Given the description of an element on the screen output the (x, y) to click on. 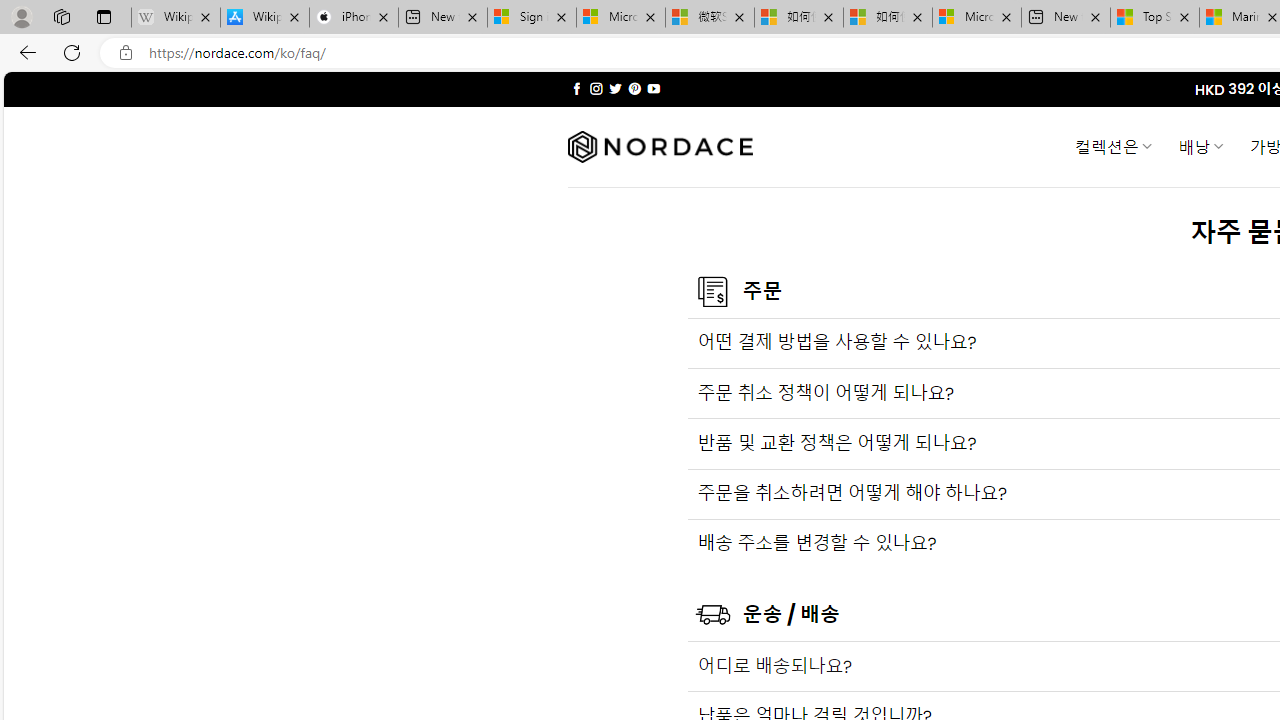
Follow on Pinterest (634, 88)
Microsoft account | Account Checkup (977, 17)
